Given the description of an element on the screen output the (x, y) to click on. 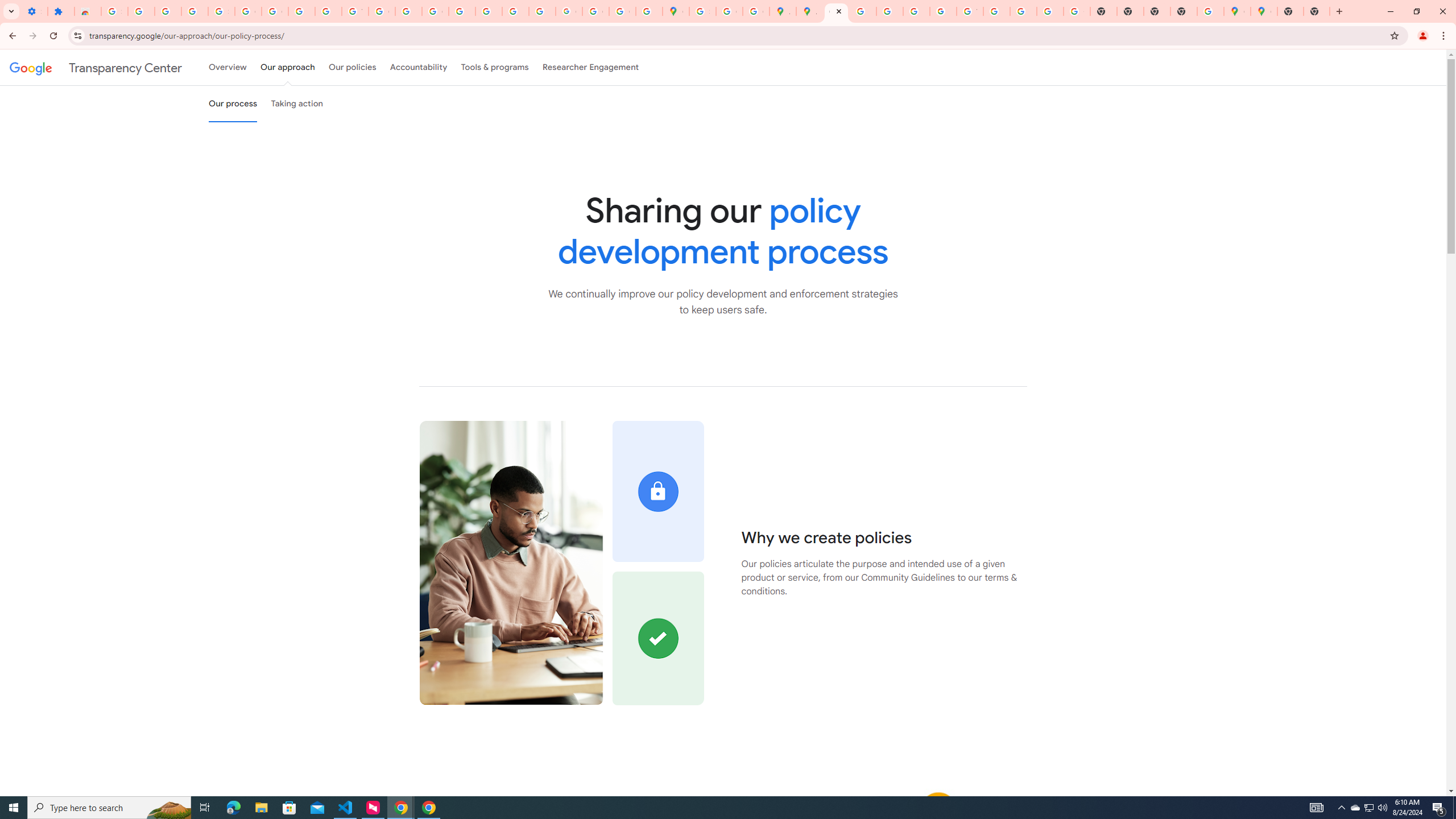
YouTube (970, 11)
Privacy Help Center - Policies Help (862, 11)
Settings - On startup (34, 11)
Google Account Help (248, 11)
New Tab (1316, 11)
